Given the description of an element on the screen output the (x, y) to click on. 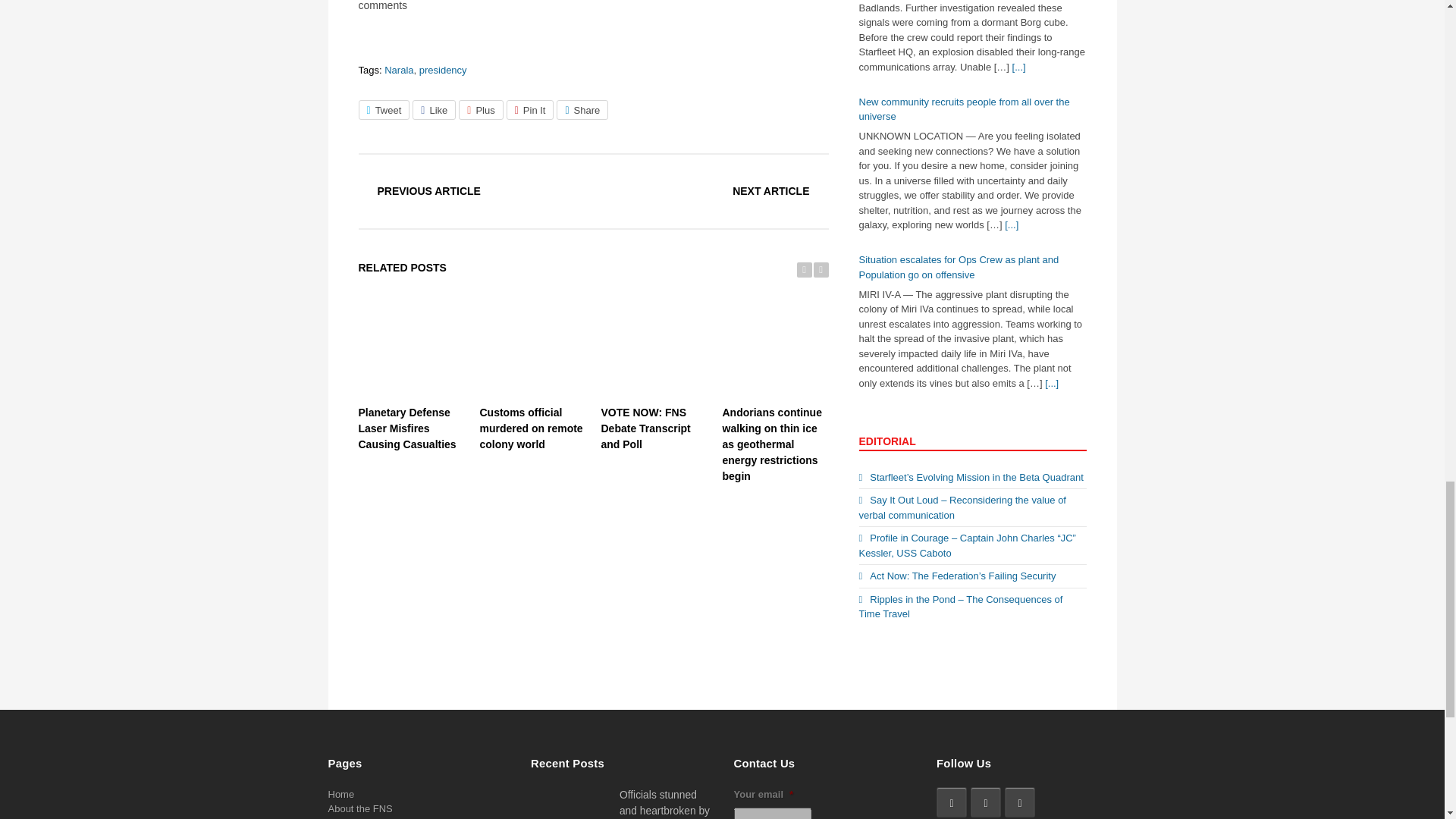
Share on Facebook (433, 109)
Share on Twitter (383, 109)
Share on Pinterest (530, 109)
Share on LinkedIn (582, 109)
